Given the description of an element on the screen output the (x, y) to click on. 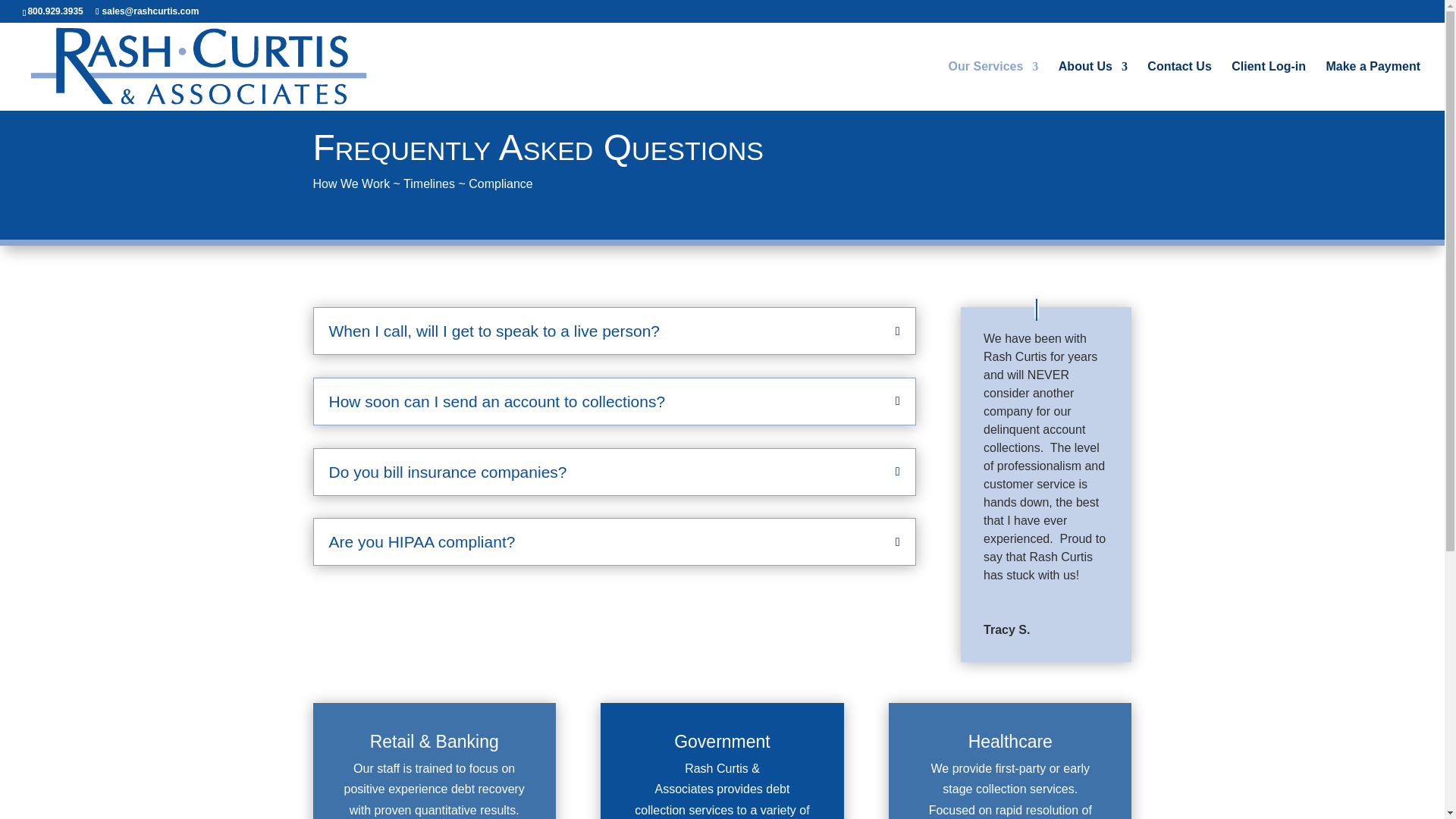
Our Services (994, 85)
About Us (1092, 85)
Client Log-in (1268, 85)
Make a Payment (1372, 85)
Contact Us (1179, 85)
